Given the description of an element on the screen output the (x, y) to click on. 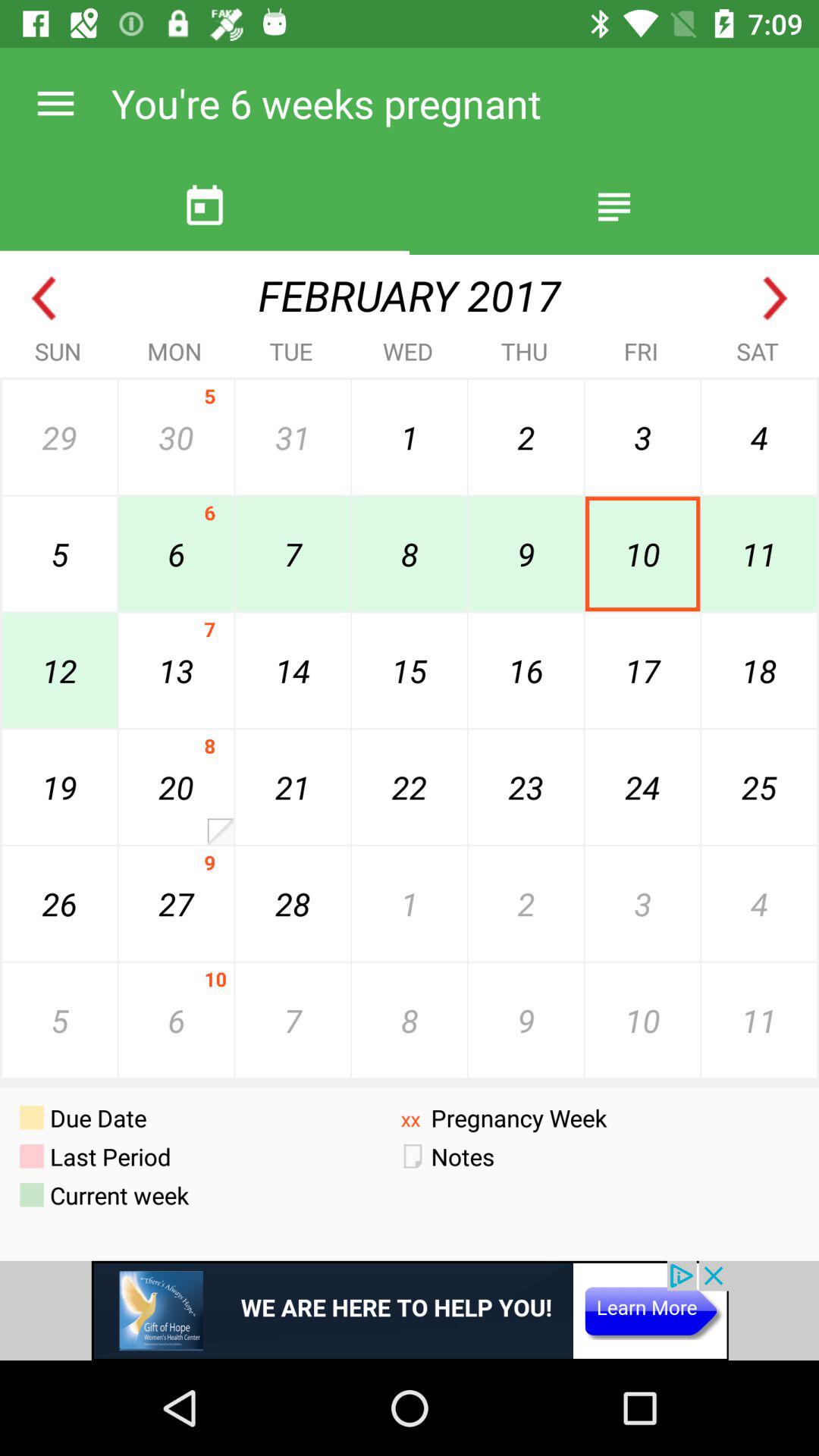
go back (43, 298)
